Given the description of an element on the screen output the (x, y) to click on. 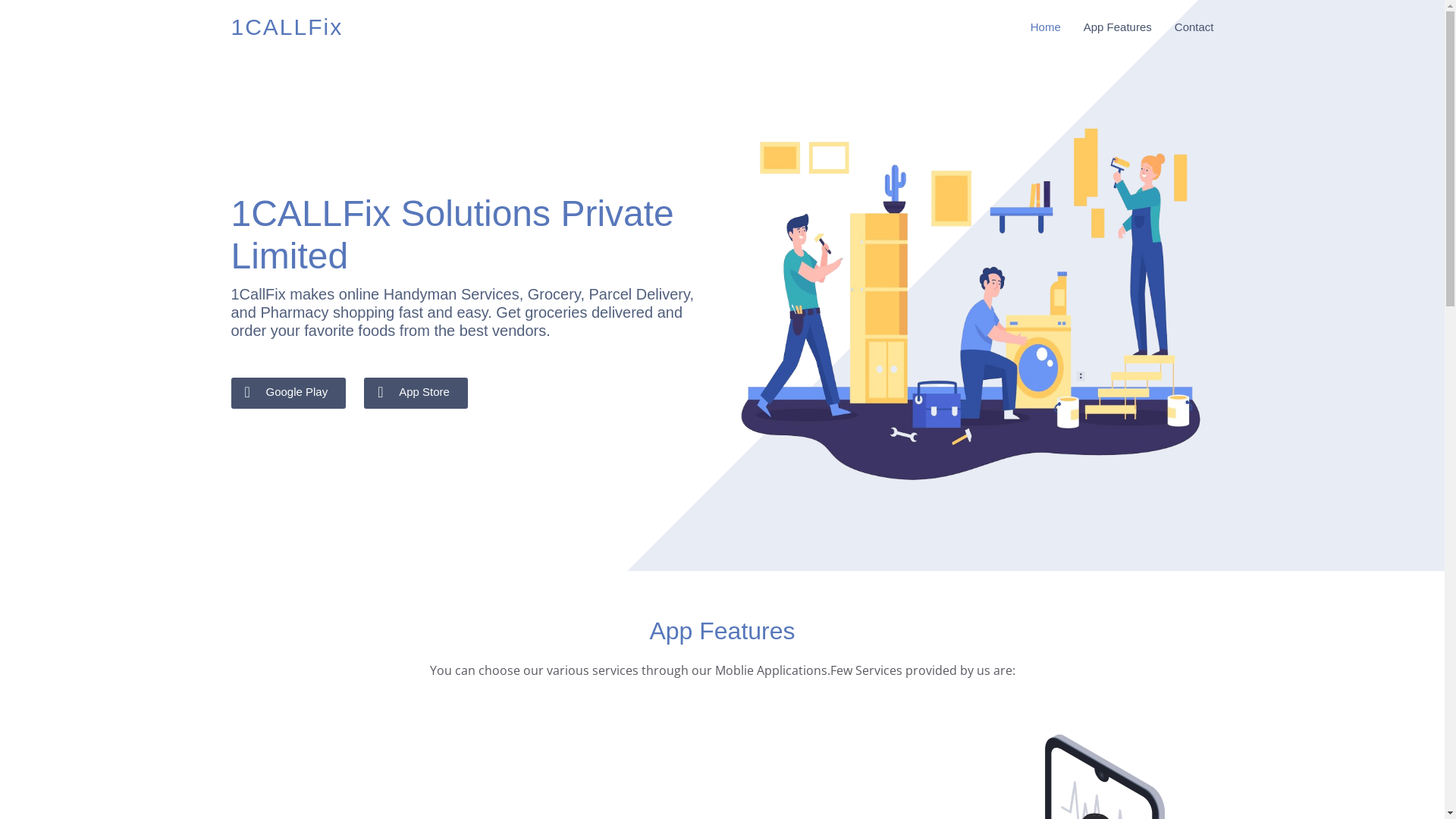
Google Play Element type: text (287, 392)
Home Element type: text (1033, 27)
1CALLFix Element type: text (286, 26)
Contact Element type: text (1182, 27)
App Store Element type: text (415, 392)
App Features Element type: text (1105, 27)
